Given the description of an element on the screen output the (x, y) to click on. 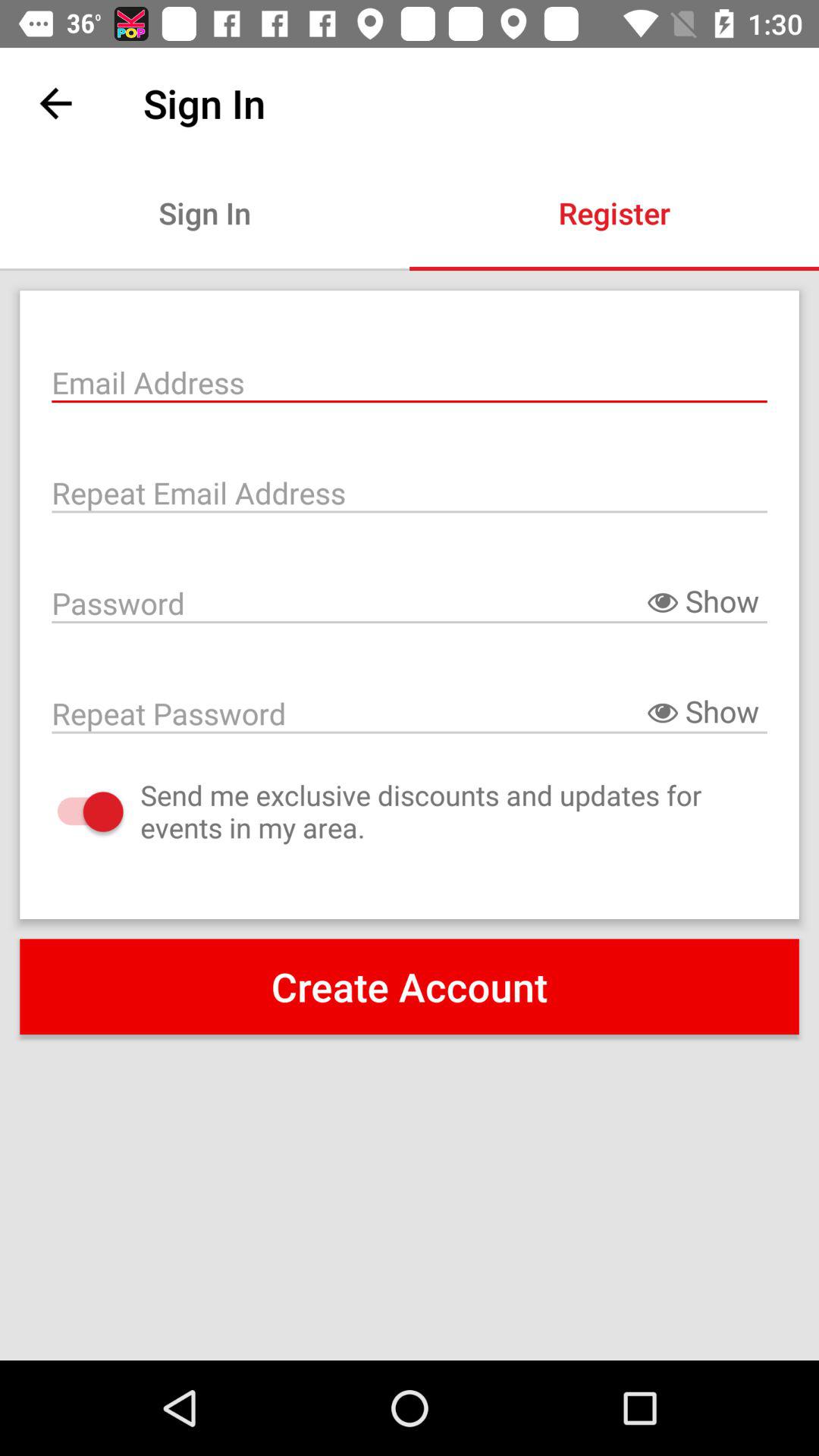
select the icon next to the send me exclusive (74, 811)
